Given the description of an element on the screen output the (x, y) to click on. 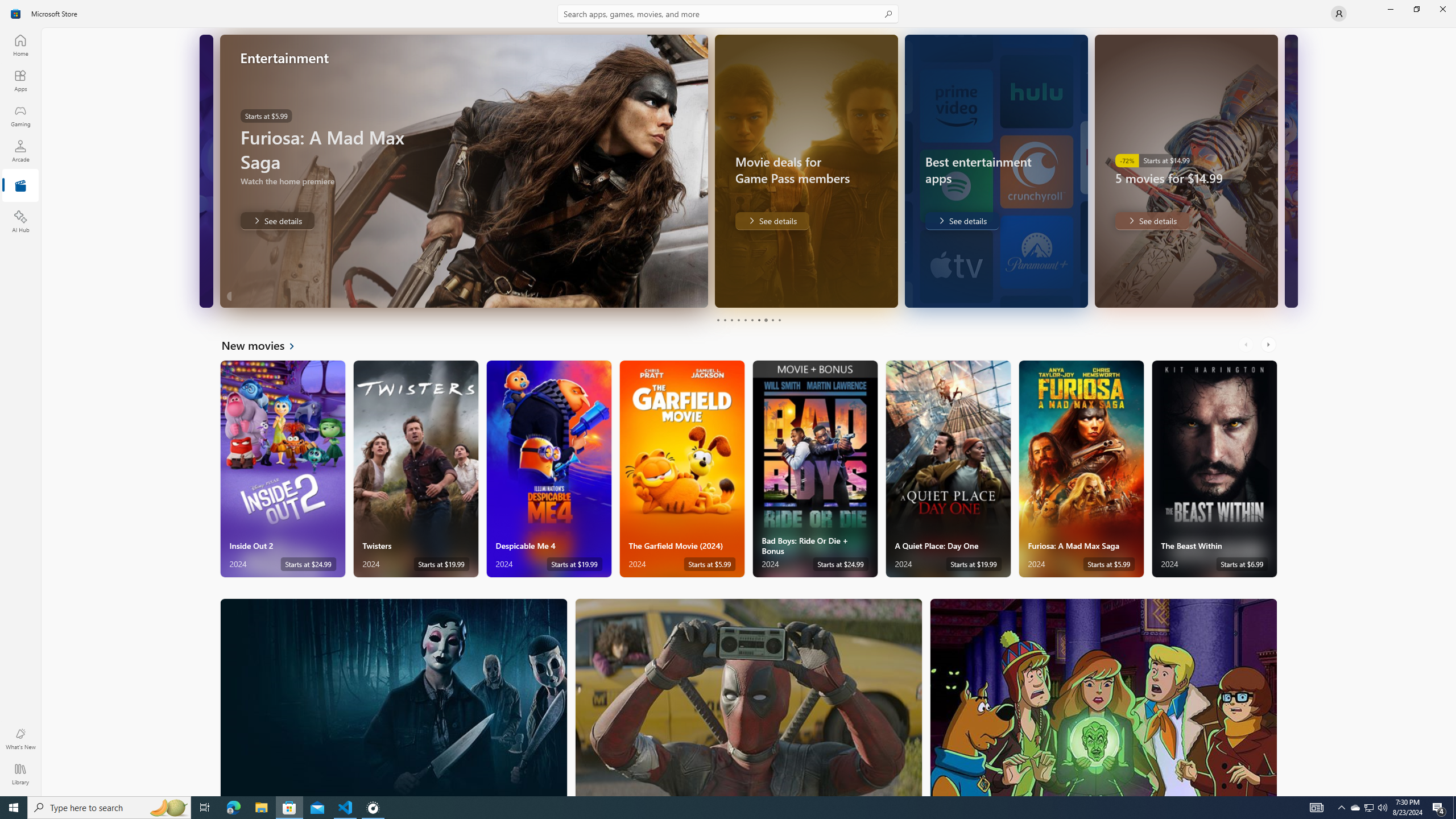
Page 1 (717, 319)
